Given the description of an element on the screen output the (x, y) to click on. 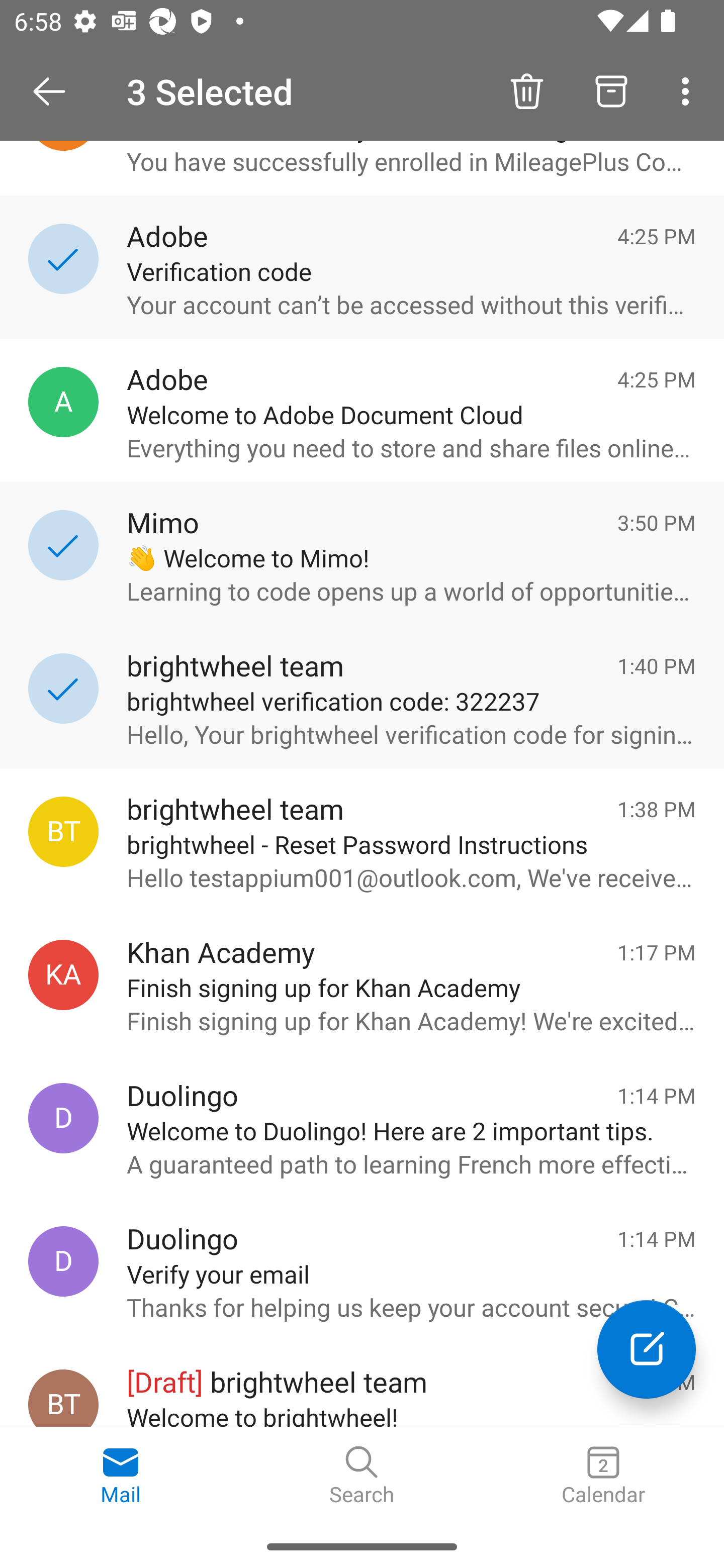
Delete (526, 90)
Archive (611, 90)
More options (688, 90)
Open Navigation Drawer (55, 91)
Adobe, message@adobe.com (63, 401)
brightwheel team, recovery@mybrightwheel.com (63, 831)
Khan Academy, no-reply@khanacademy.org (63, 974)
Duolingo, hello@duolingo.com (63, 1118)
Duolingo, hello@duolingo.com (63, 1261)
Compose (646, 1348)
brightwheel team, welcome@mybrightwheel.com (63, 1397)
Search (361, 1475)
Calendar (603, 1475)
